Given the description of an element on the screen output the (x, y) to click on. 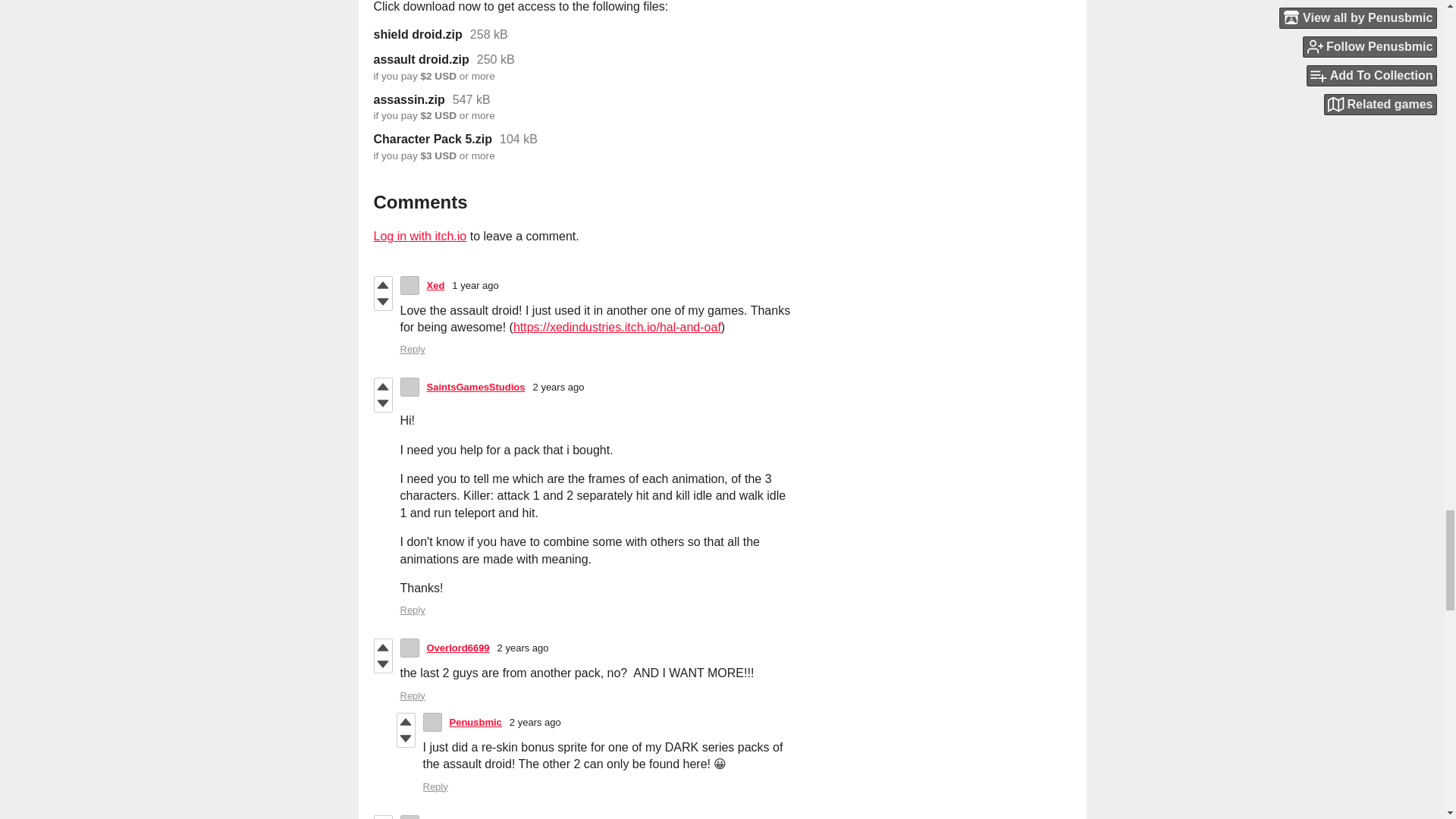
Overlord6699 (457, 647)
assassin.zip (408, 100)
Vote up (382, 817)
2022-10-23 17:49:45 (474, 285)
Character Pack 5.zip (432, 139)
Vote down (405, 738)
shield droid.zip (416, 34)
Reply (412, 609)
2022-06-10 18:14:27 (522, 647)
Vote down (382, 301)
